Given the description of an element on the screen output the (x, y) to click on. 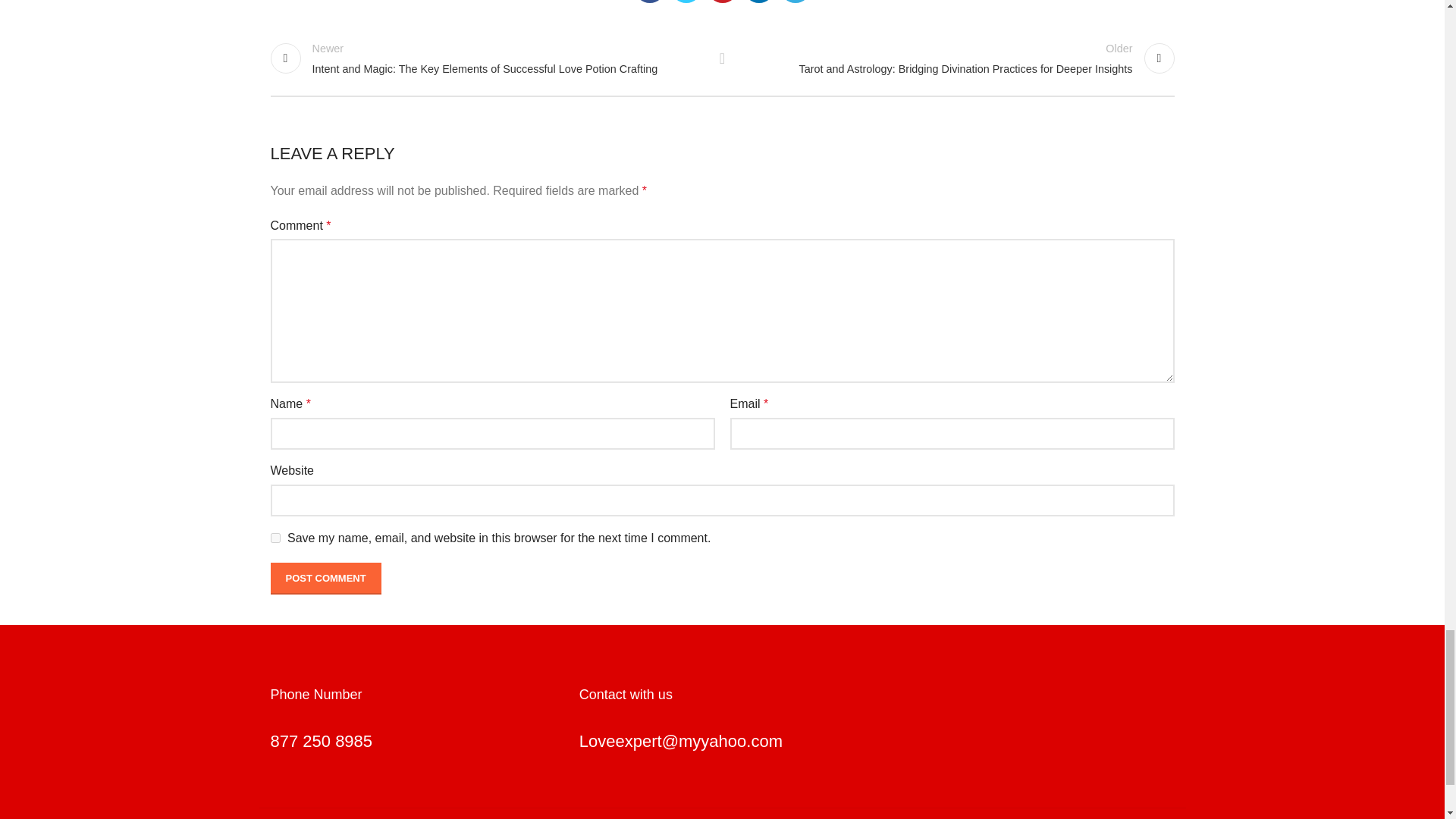
Post Comment (324, 578)
Post Comment (324, 578)
Back to list (721, 58)
yes (274, 537)
